Given the description of an element on the screen output the (x, y) to click on. 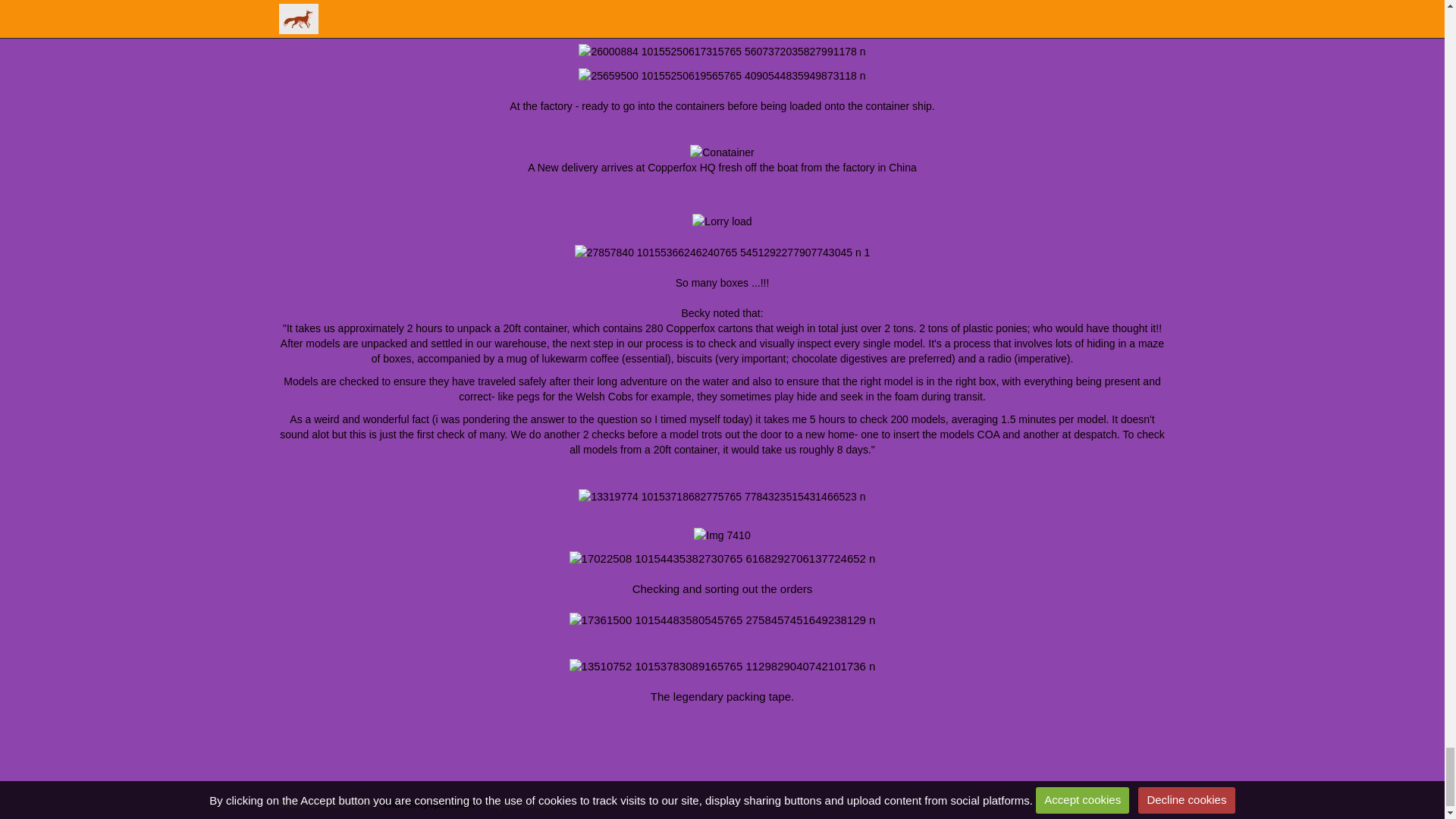
Make a free website (329, 802)
Report abuse (518, 802)
Report abuse (518, 802)
Make a free website (329, 802)
